Given the description of an element on the screen output the (x, y) to click on. 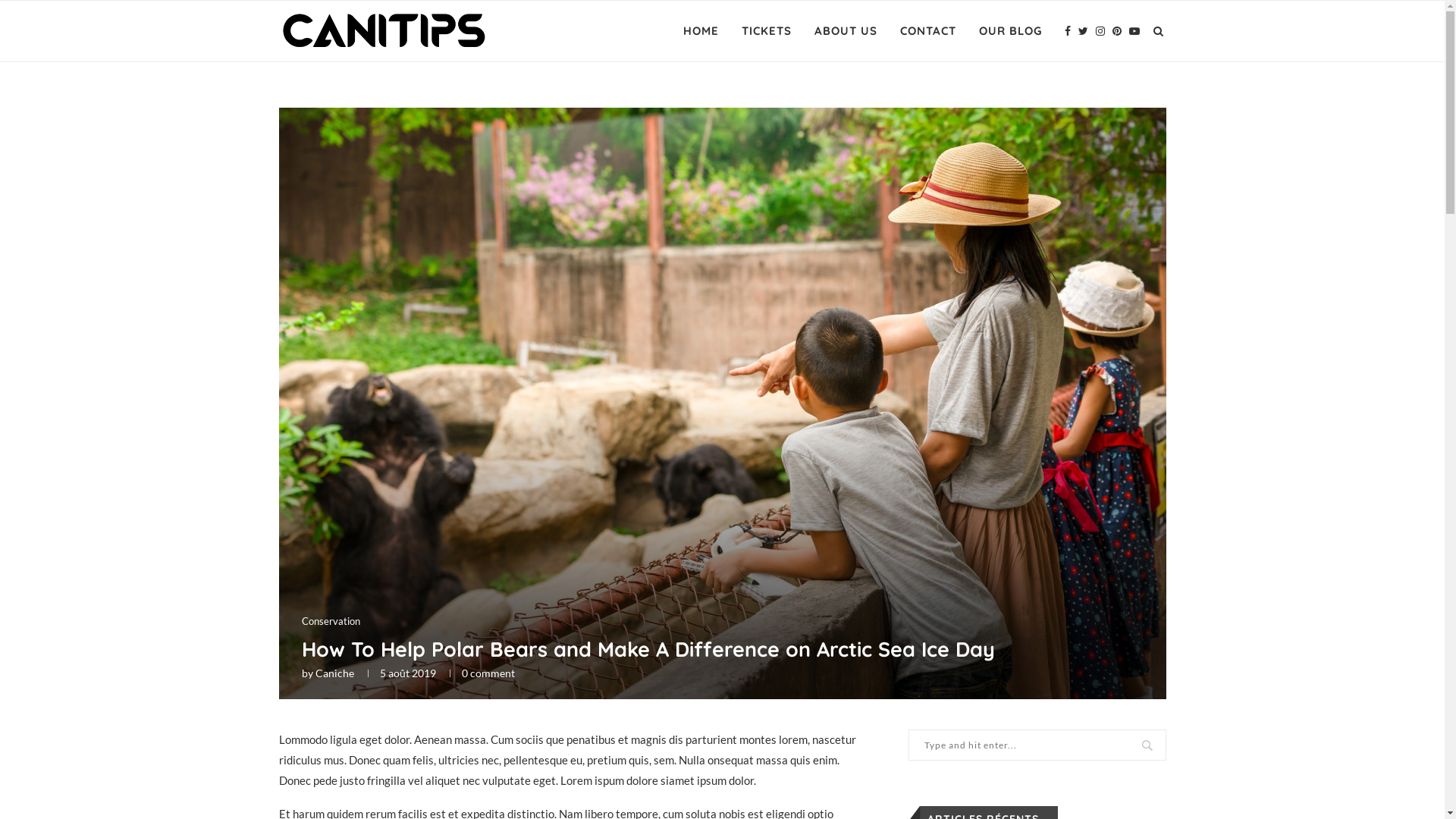
ABOUT US Element type: text (845, 30)
Conservation Element type: text (330, 621)
HOME Element type: text (700, 30)
OUR BLOG Element type: text (1009, 30)
TICKETS Element type: text (766, 30)
CONTACT Element type: text (927, 30)
Caniche Element type: text (334, 672)
